Given the description of an element on the screen output the (x, y) to click on. 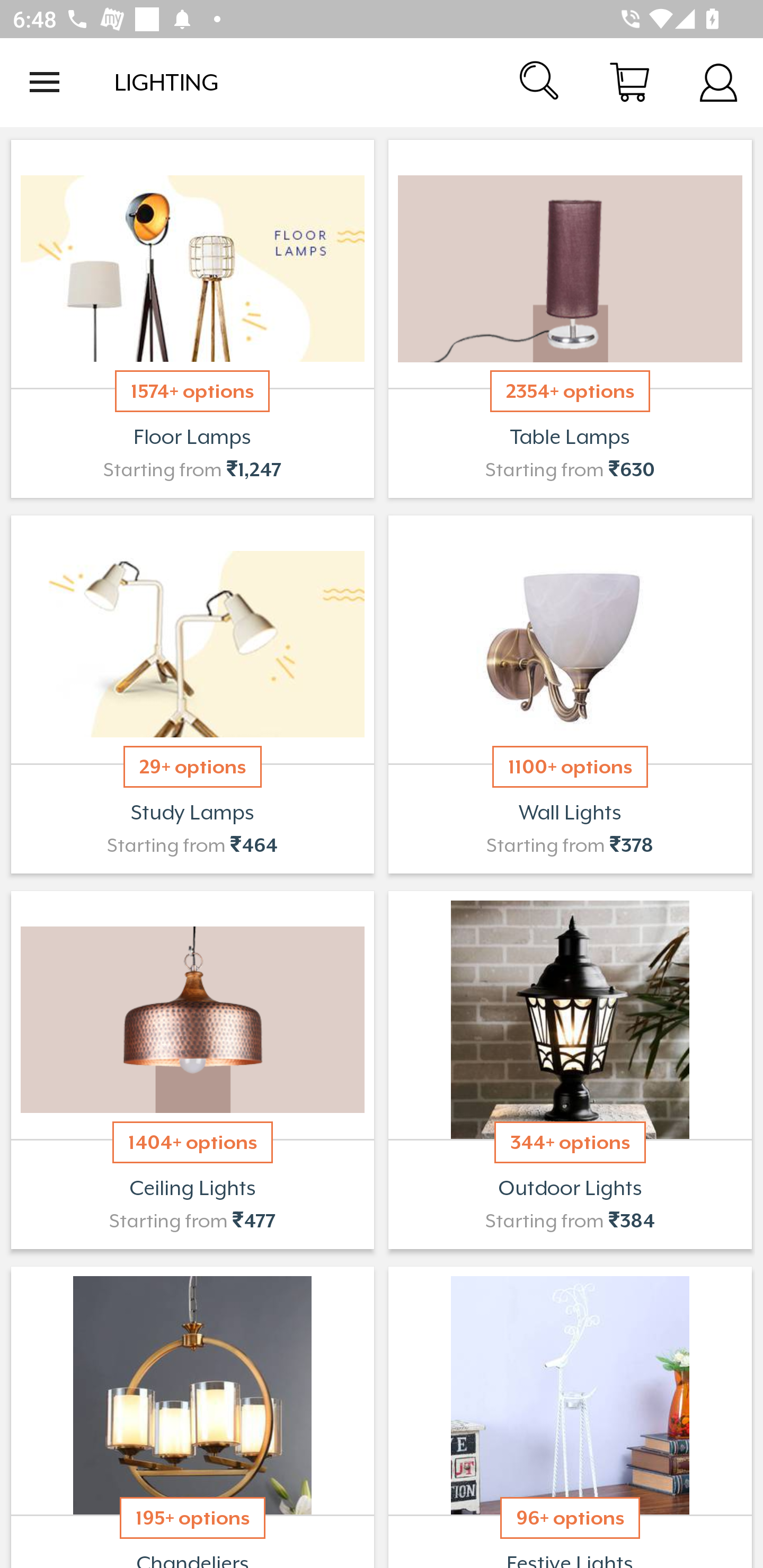
Open navigation drawer (44, 82)
Search (540, 81)
Cart (629, 81)
Account Details (718, 81)
1574+ options Floor Lamps Starting from  ₹1,247 (191, 318)
2354+ options Table Lamps Starting from  ₹630 (570, 318)
29+ options Study Lamps Starting from  ₹464 (191, 694)
1100+ options Wall Lights Starting from  ₹378 (570, 694)
1404+ options Ceiling Lights Starting from  ₹477 (191, 1069)
344+ options Outdoor Lights Starting from  ₹384 (570, 1069)
195+ options Chandeliers (191, 1415)
96+ options Festive Lights (570, 1415)
